Given the description of an element on the screen output the (x, y) to click on. 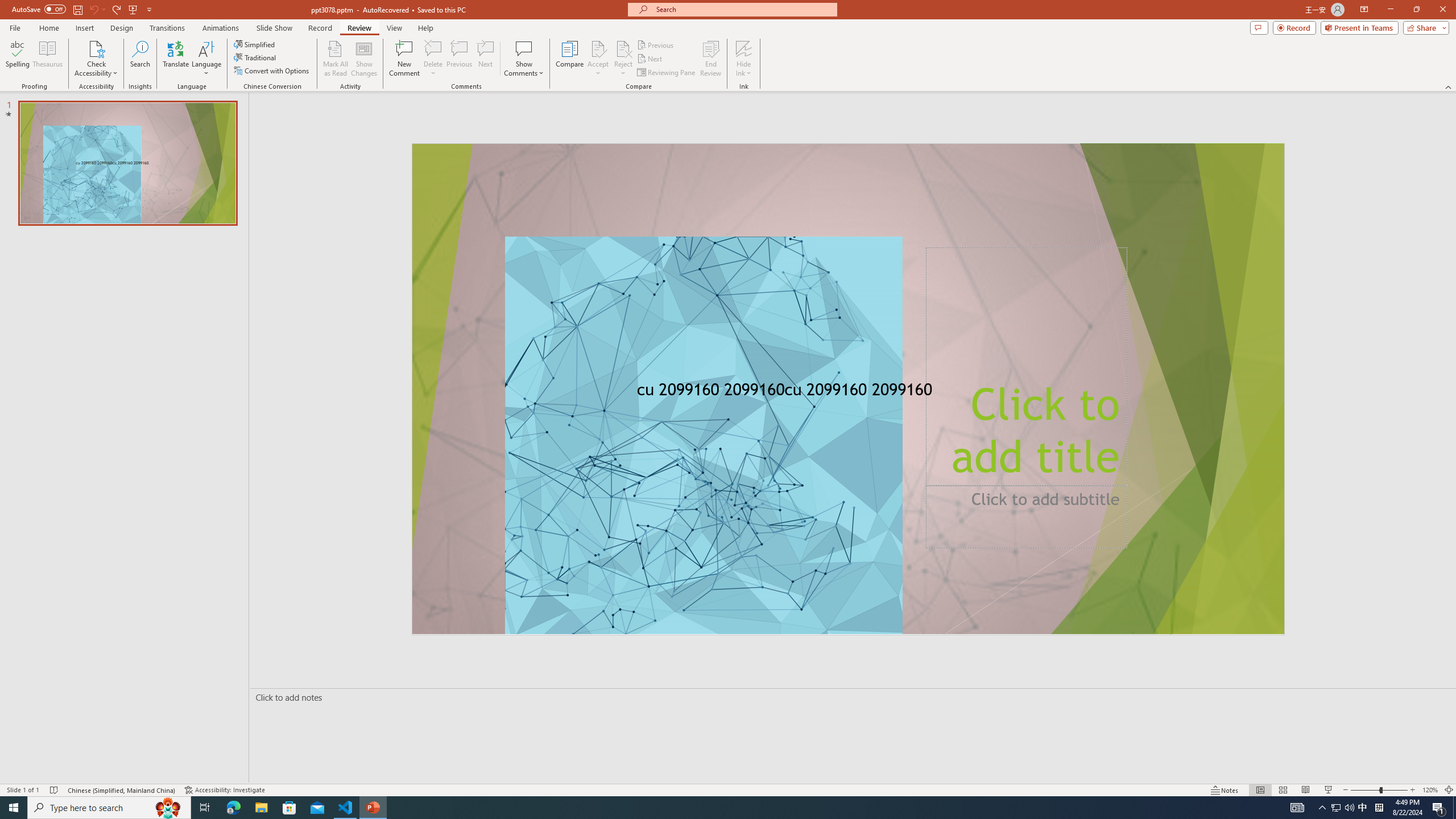
Translate (175, 58)
Convert with Options... (272, 69)
Next (649, 58)
Show Changes (363, 58)
